Given the description of an element on the screen output the (x, y) to click on. 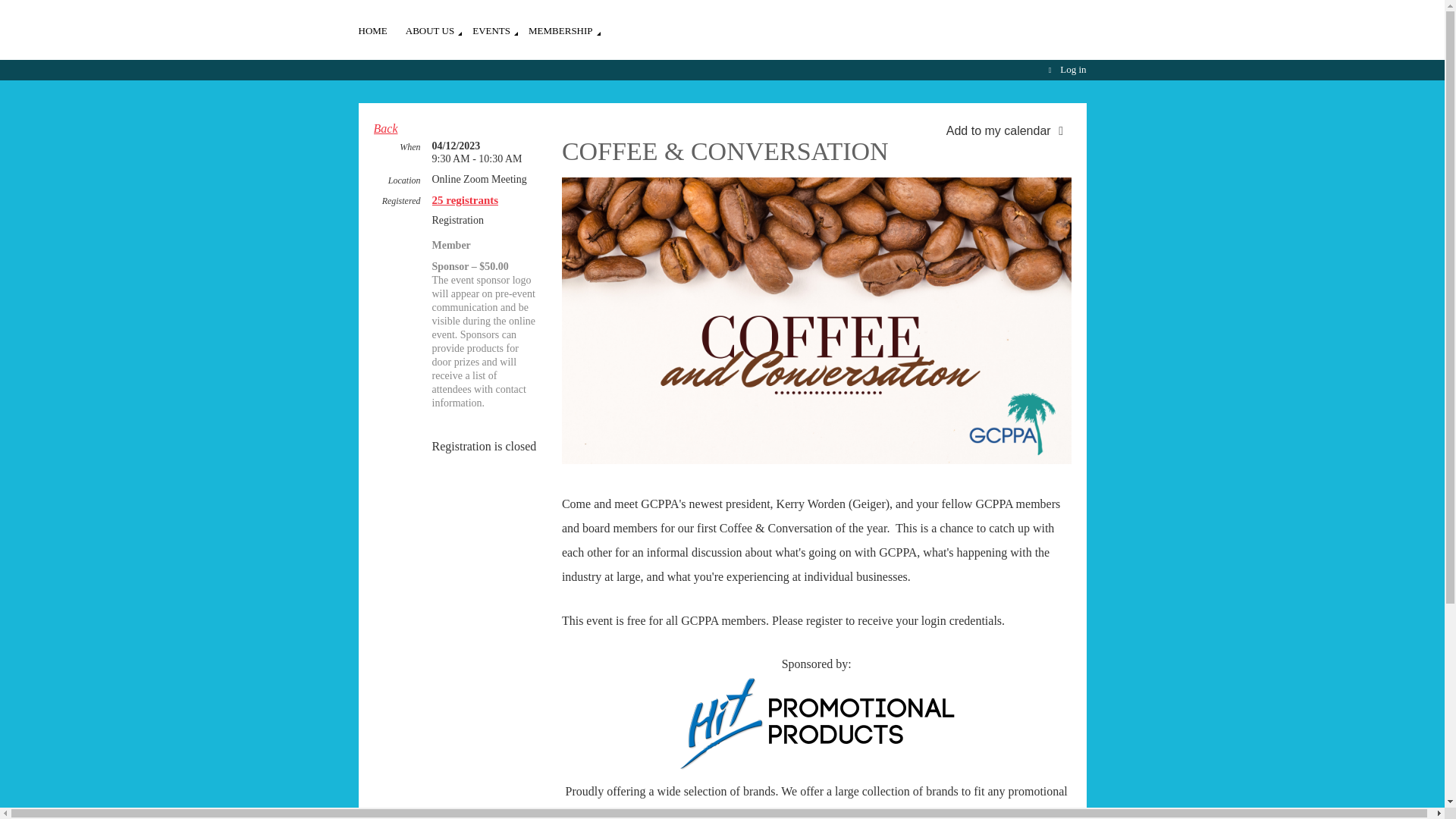
Events (499, 22)
Log in (1064, 69)
Home (381, 22)
ABOUT US (438, 22)
25 registrants (465, 200)
About Us (438, 22)
Back (384, 128)
HitPromo.net (1035, 814)
MEMBERSHIP (569, 22)
HOME (381, 22)
